Given the description of an element on the screen output the (x, y) to click on. 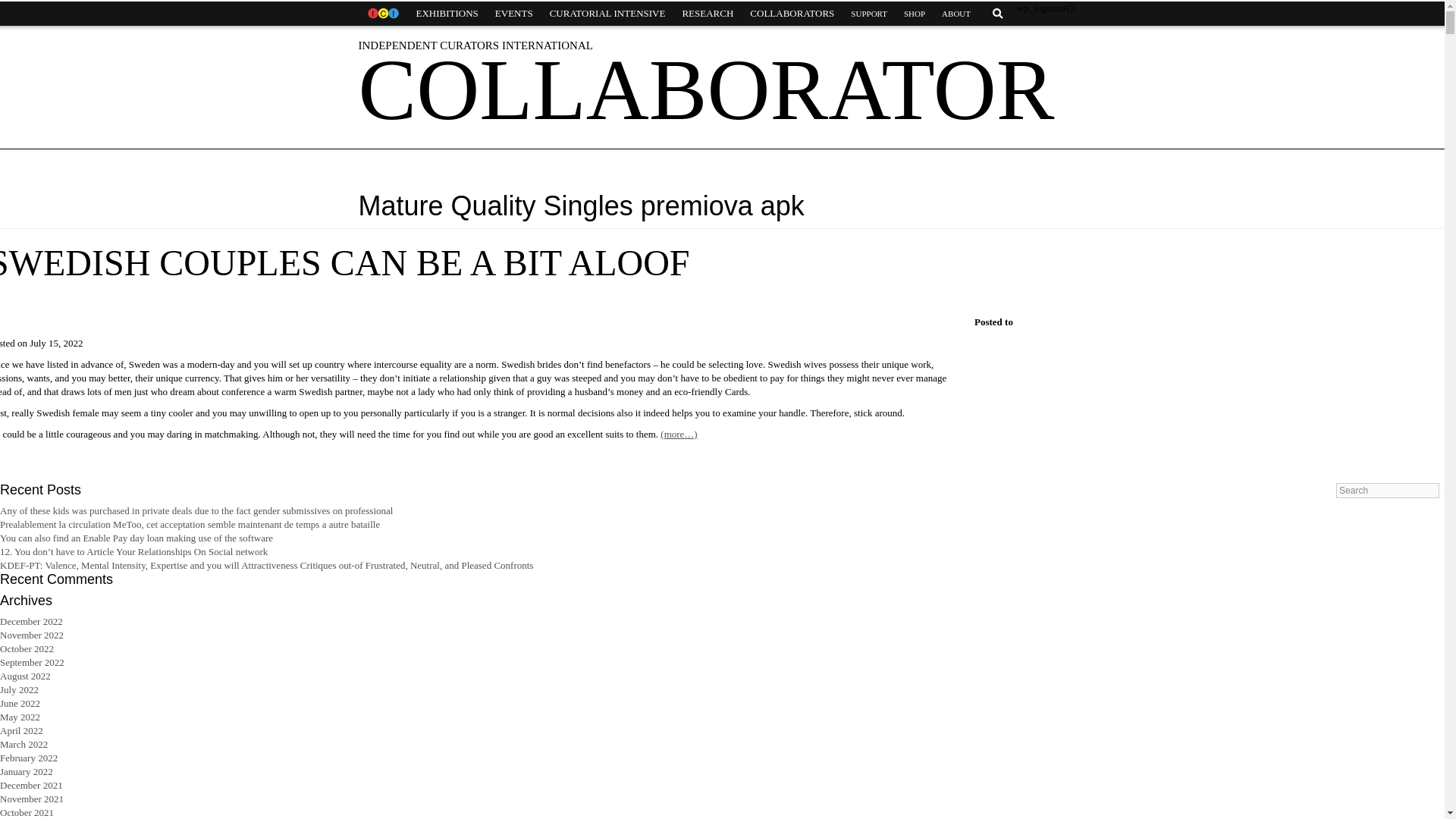
CURATORIAL INTENSIVE (607, 13)
RESEARCH (706, 13)
COLLABORATORS (792, 13)
HOME (382, 13)
EXHIBITIONS (446, 13)
EVENTS (513, 13)
